Given the description of an element on the screen output the (x, y) to click on. 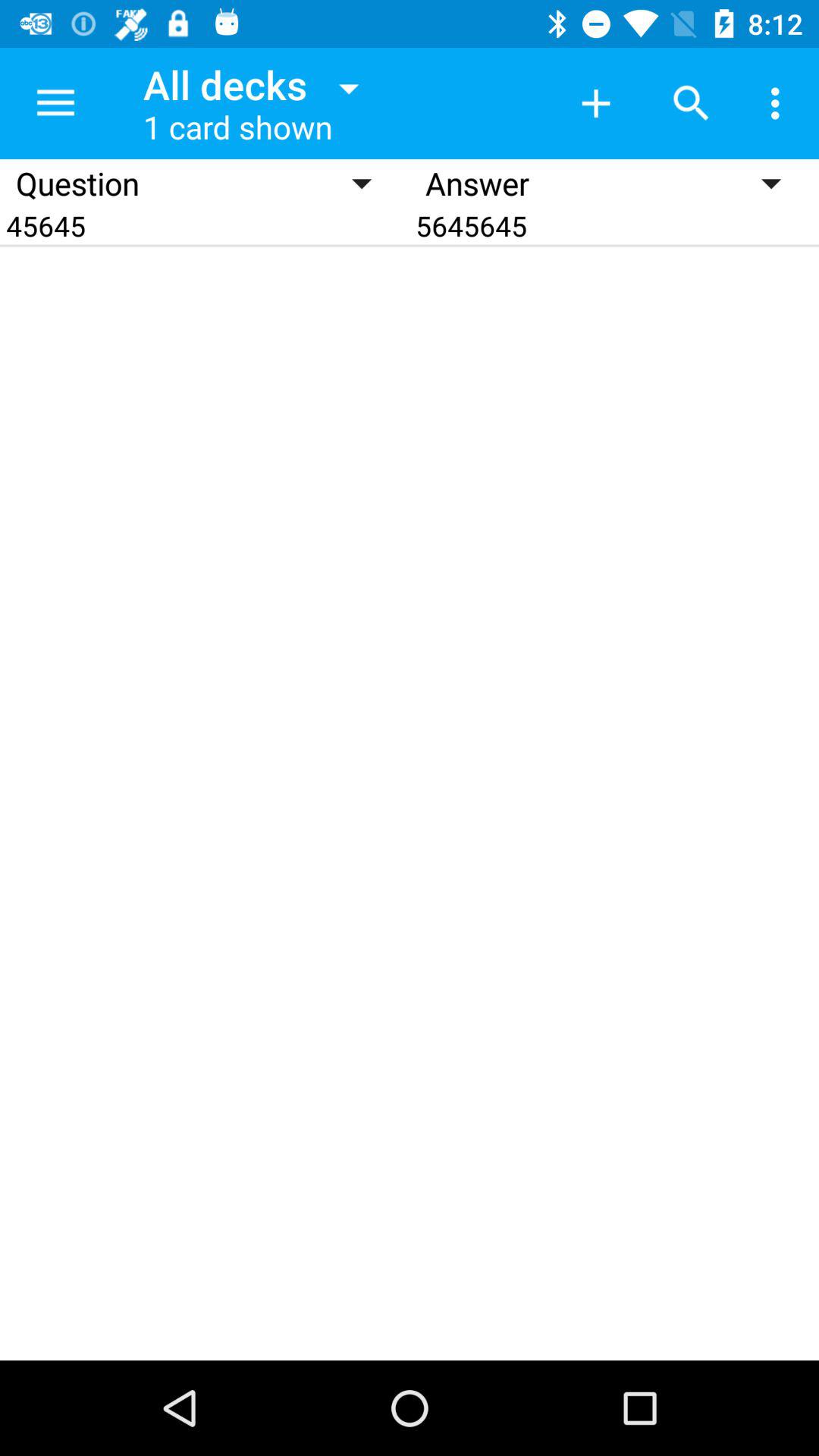
turn off the icon above the answer icon (691, 103)
